Given the description of an element on the screen output the (x, y) to click on. 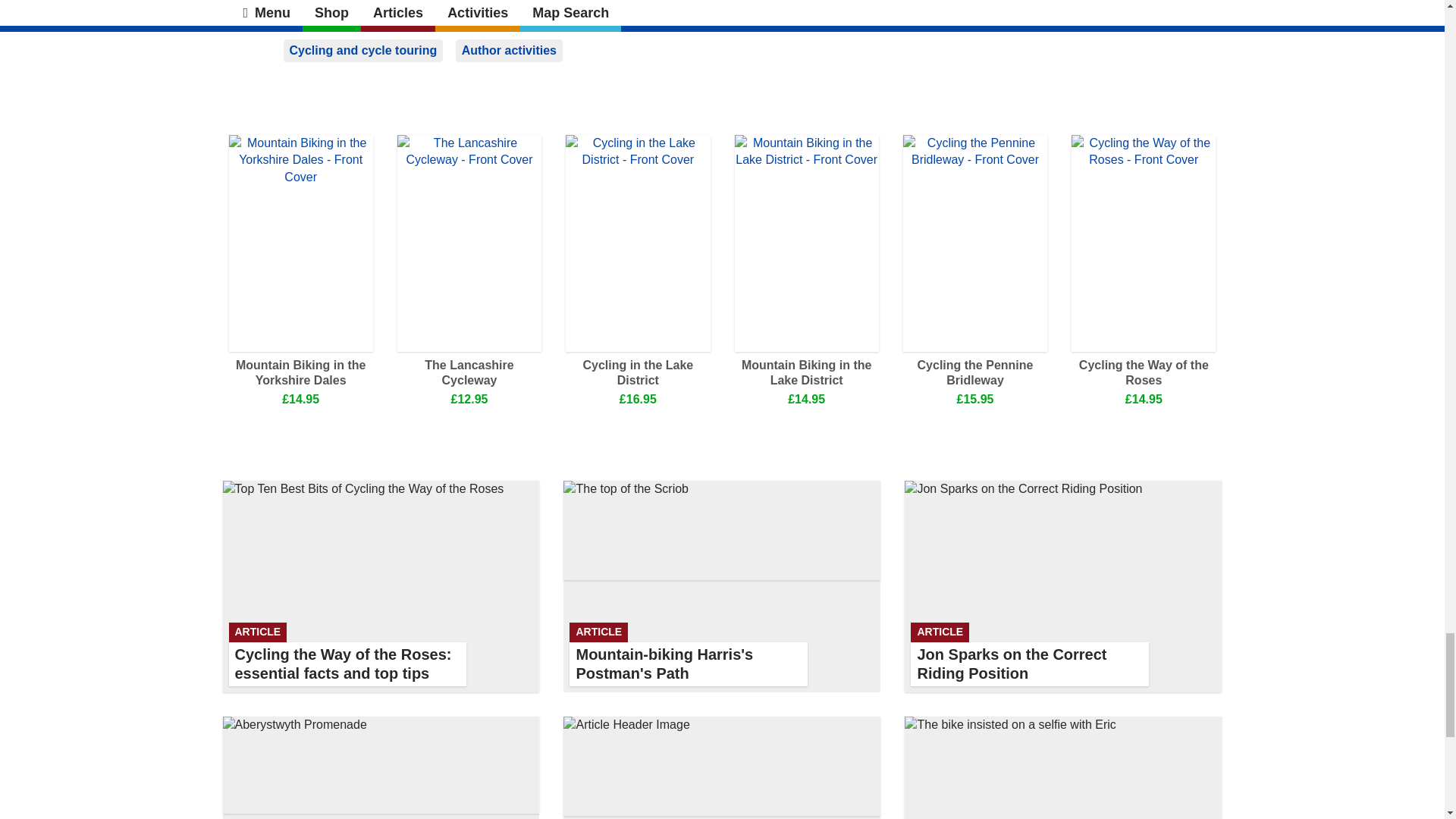
Author activities (381, 767)
The Lancashire Cycleway (721, 586)
Mountain Biking in the Lake District (508, 50)
Cycling in the Lake District (469, 372)
Cycling and cycle touring (805, 372)
Cycling the Pennine Bridleway (638, 372)
Cycling the Way of the Roses (363, 50)
Mountain Biking in the Yorkshire Dales (974, 372)
